Given the description of an element on the screen output the (x, y) to click on. 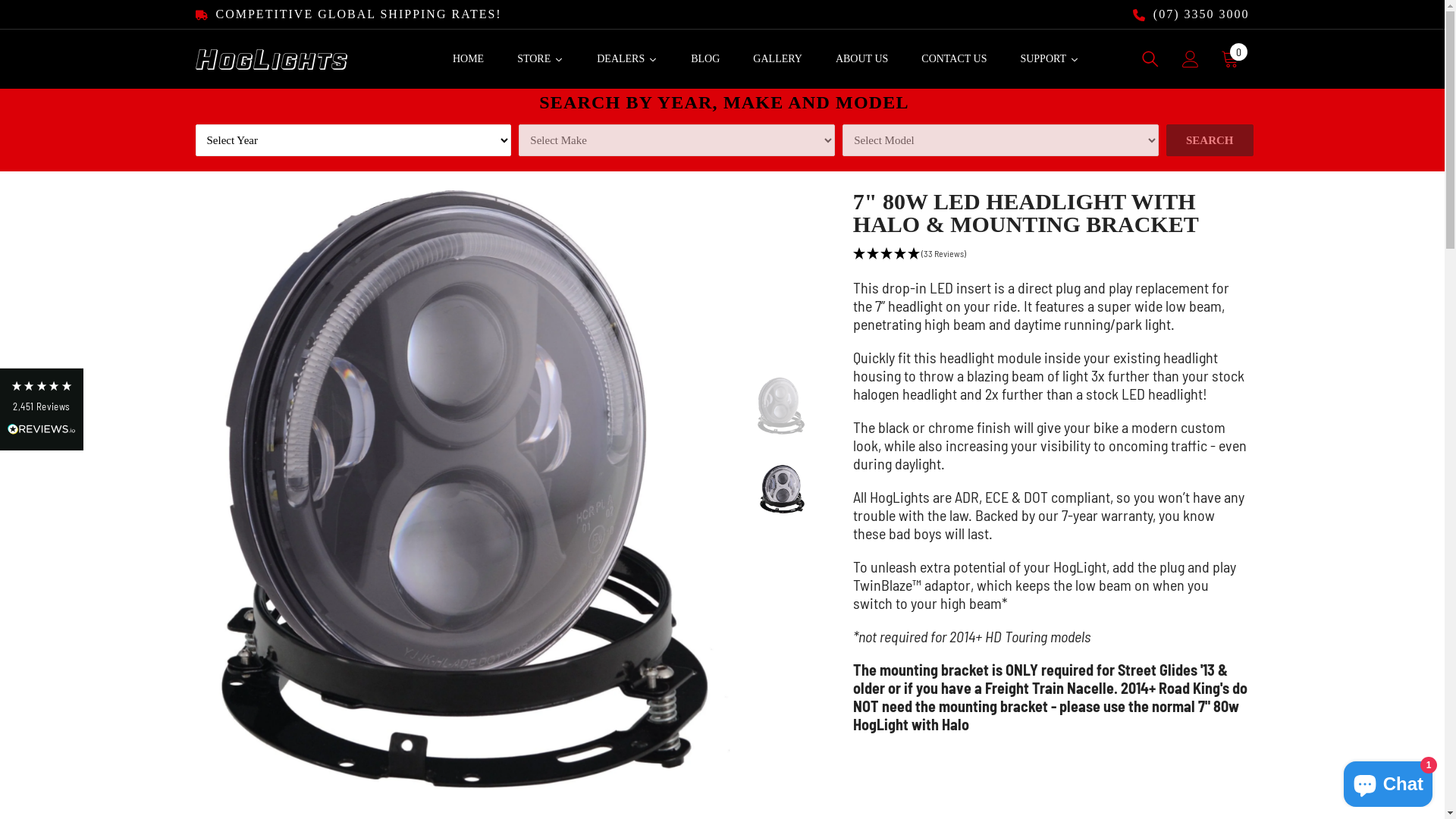
REVIEWS.io Element type: hover (41, 428)
DEALERS Element type: text (627, 58)
ABOUT US Element type: text (861, 58)
Cart
0
0 items Element type: text (1229, 59)
SUPPORT Element type: text (1049, 58)
Motorcycle Headlights - 7" 80w Halo With Mounting Bracket Element type: hover (780, 489)
HOME Element type: text (468, 58)
Shopify online store chat Element type: hover (1388, 780)
Motorcycle Headlights - 7" 80w Halo With Mounting Bracket Element type: hover (780, 406)
(07) 3350 3000 Element type: text (1190, 13)
CONTACT US Element type: text (953, 58)
Motorcycle Headlights - 7" 80w Halo With Mounting Bracket Element type: hover (463, 497)
7" 80w HogLight with Halo Element type: text (1046, 714)
5 Stars Element type: hover (41, 385)
STORE Element type: text (540, 58)
BLOG Element type: text (705, 58)
GALLERY Element type: text (777, 58)
